Given the description of an element on the screen output the (x, y) to click on. 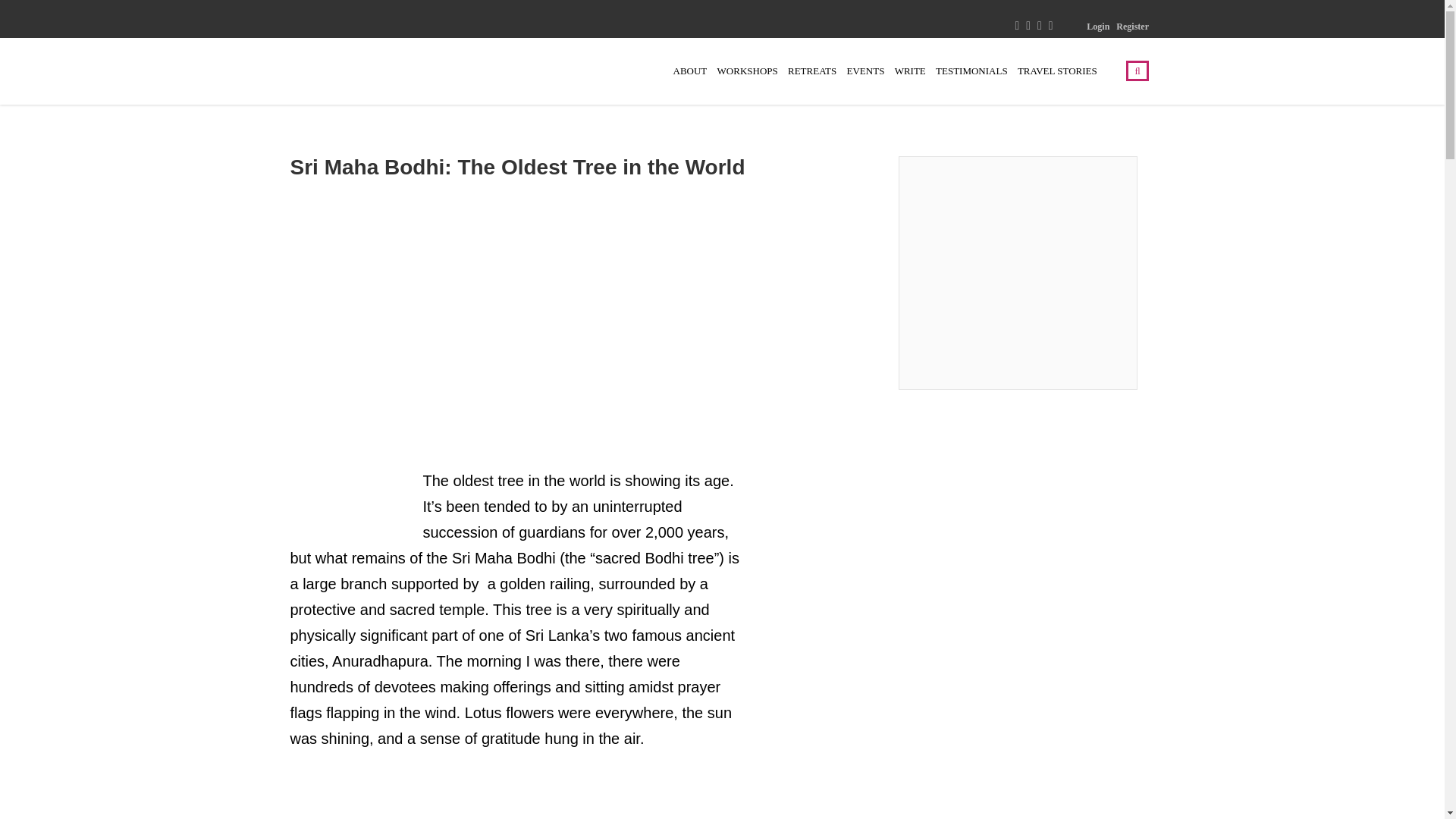
on (485, 746)
Register (1132, 26)
WORKSHOPS (747, 70)
Login (1097, 26)
RETREATS (811, 70)
Sign Up (820, 702)
